Given the description of an element on the screen output the (x, y) to click on. 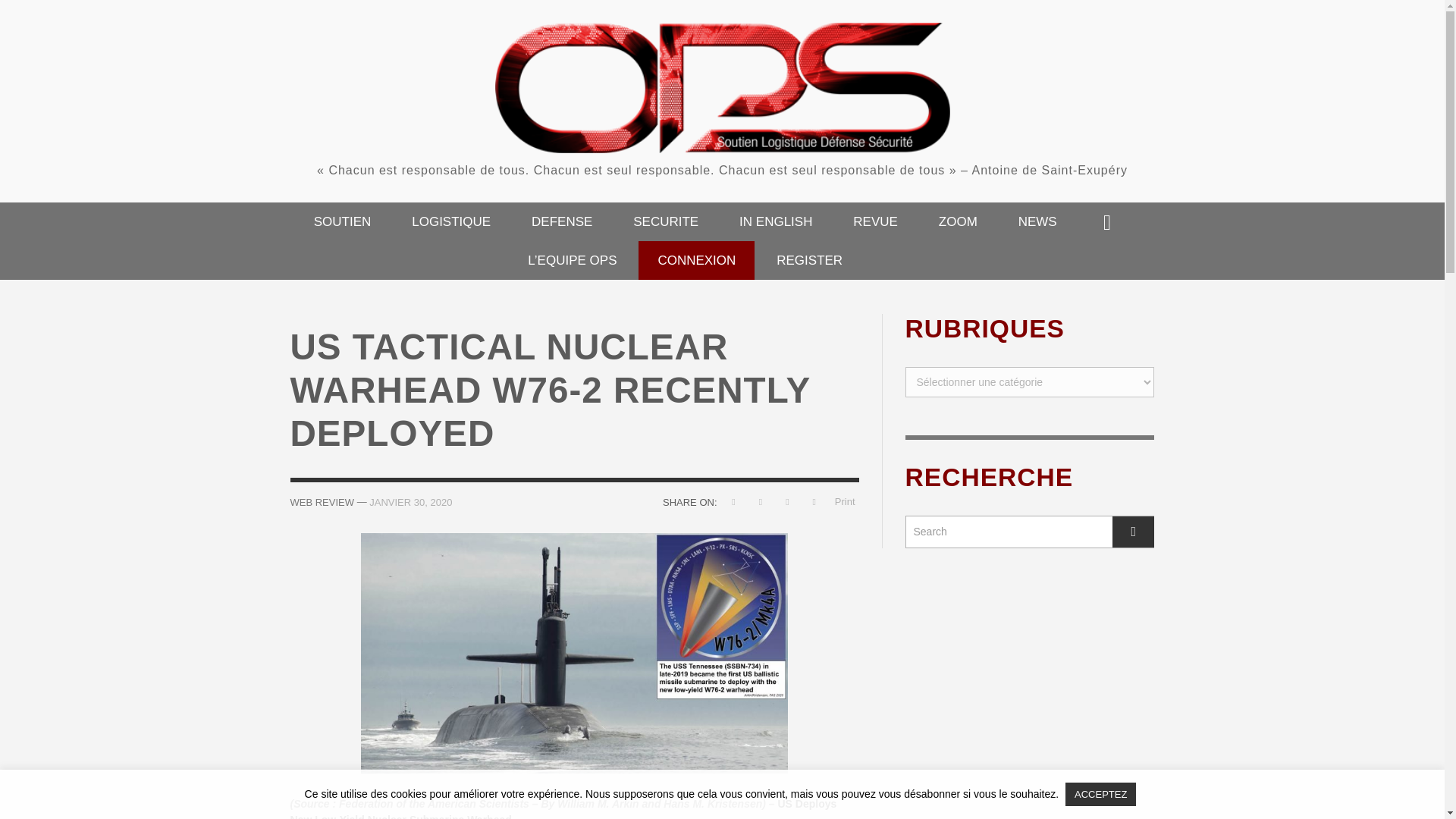
Search (1029, 531)
